Given the description of an element on the screen output the (x, y) to click on. 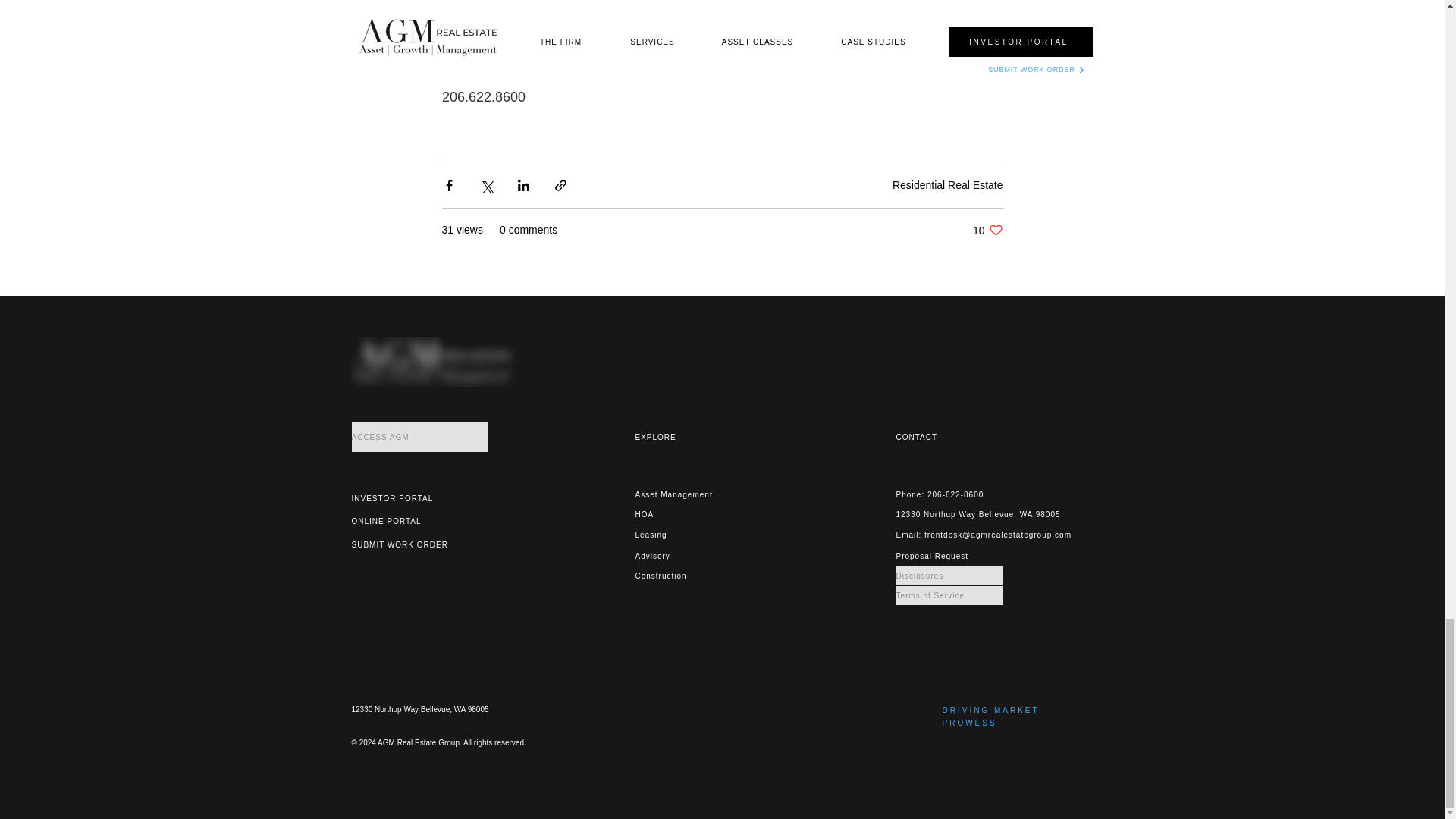
Disclosures (949, 575)
Phone: 206-622-8600 (949, 494)
INVESTOR PORTAL (405, 497)
Terms of Service (949, 595)
ACCESS AGM (419, 436)
Residential Real Estate (947, 184)
12330 Northup Way Bellevue, WA 98005 (987, 514)
Asset Management (987, 229)
EXPLORE (687, 494)
ONLINE PORTAL (702, 436)
Construction (405, 520)
HOA (687, 575)
Leasing (687, 514)
Advisory (687, 534)
